Given the description of an element on the screen output the (x, y) to click on. 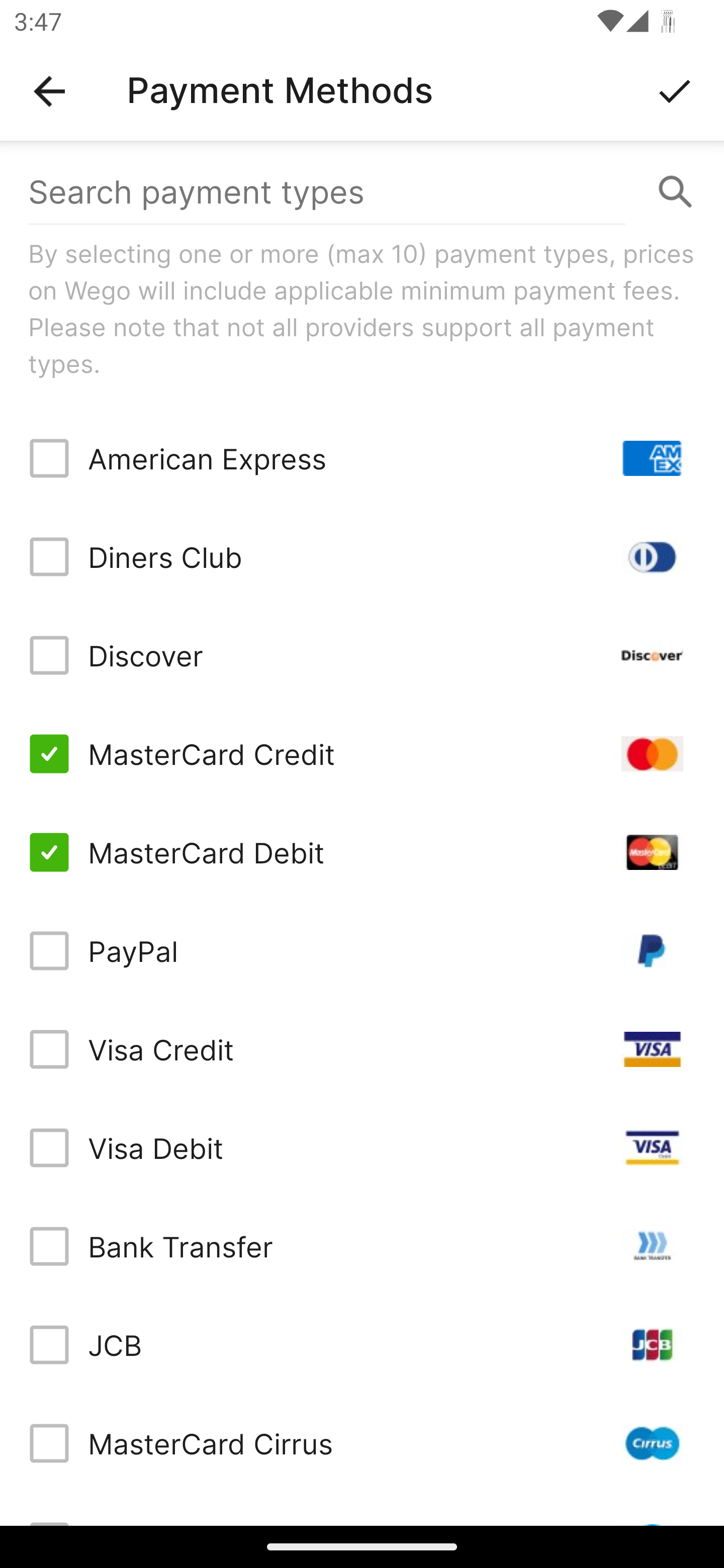
Search payment types  (361, 191)
American Express (362, 458)
Diners Club (362, 557)
Discover (362, 655)
MasterCard Credit (362, 753)
MasterCard Debit (362, 851)
PayPal (362, 950)
Visa Credit (362, 1049)
Visa Debit (362, 1147)
Bank Transfer (362, 1245)
JCB (362, 1344)
MasterCard Cirrus (362, 1442)
